Given the description of an element on the screen output the (x, y) to click on. 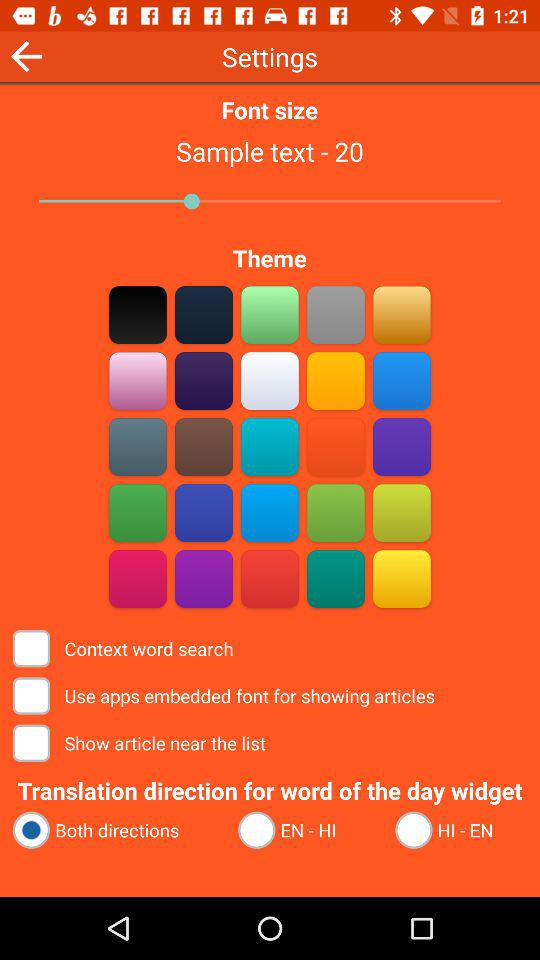
select color theme (335, 578)
